Given the description of an element on the screen output the (x, y) to click on. 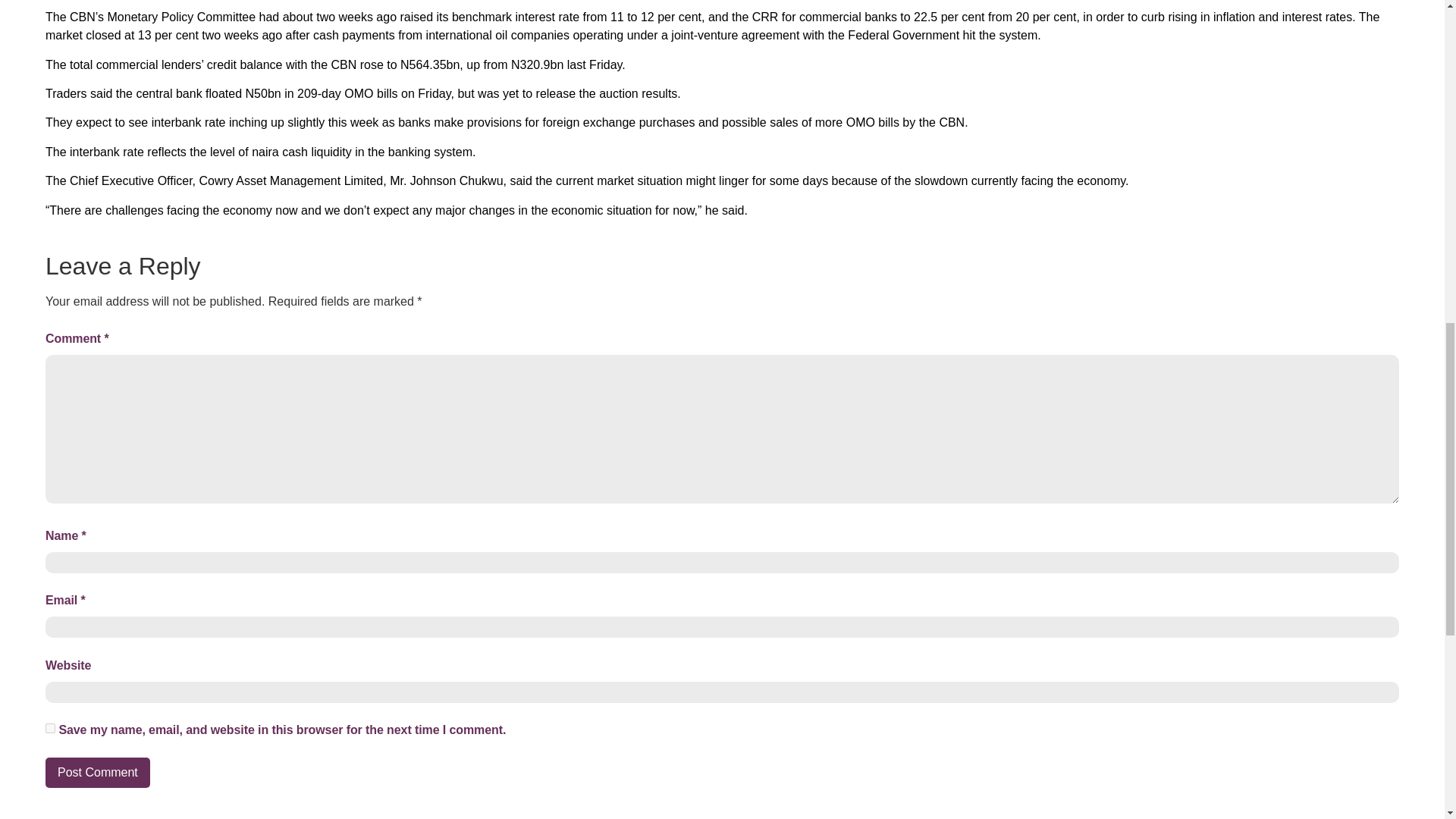
yes (50, 728)
Post Comment (97, 772)
